Given the description of an element on the screen output the (x, y) to click on. 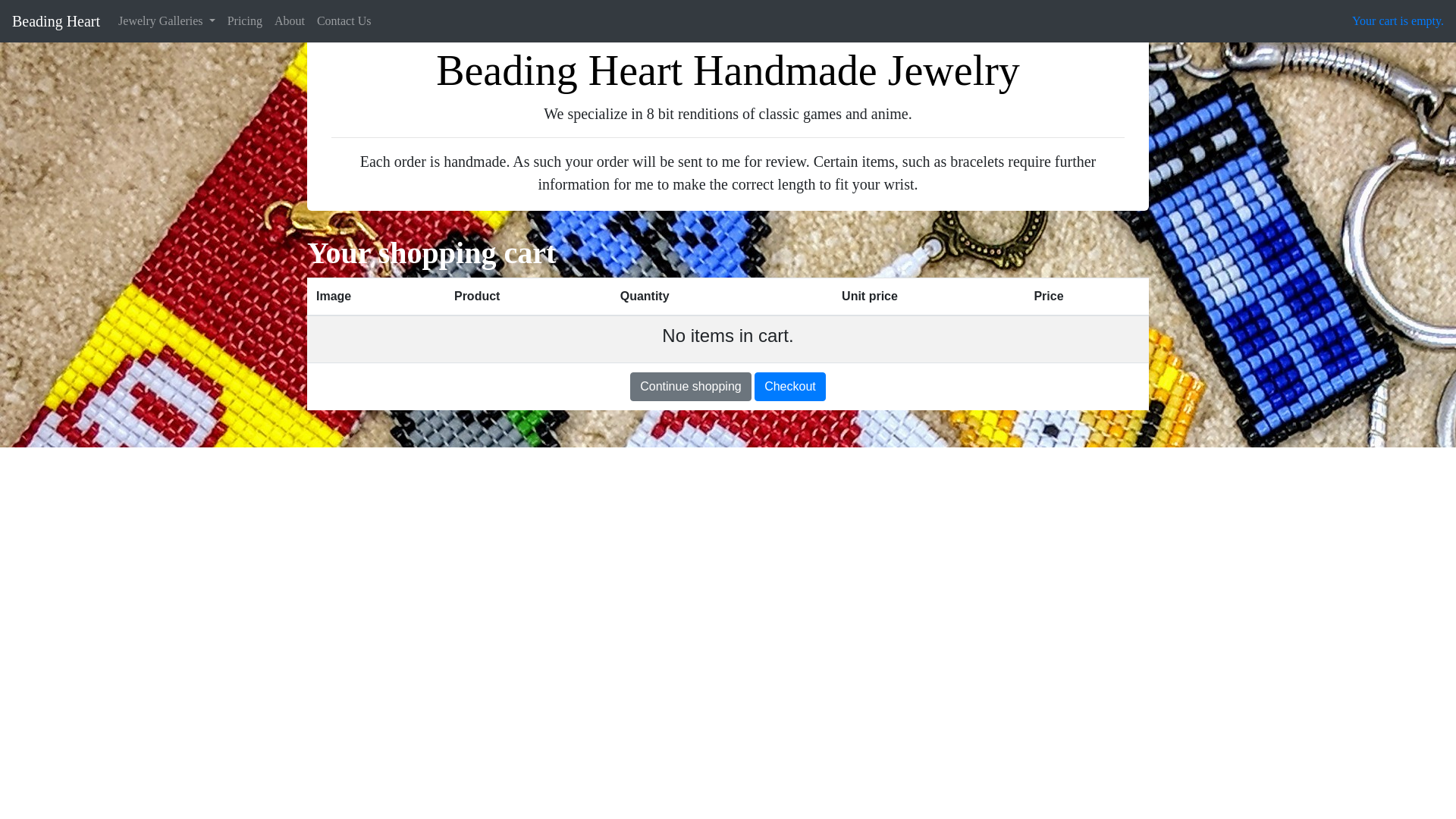
Your cart is empty. (1398, 20)
Pricing (244, 20)
Checkout (789, 386)
Continue shopping (690, 386)
About (289, 20)
Contact Us (344, 20)
Jewelry Galleries (166, 20)
Beading Heart (55, 20)
